Given the description of an element on the screen output the (x, y) to click on. 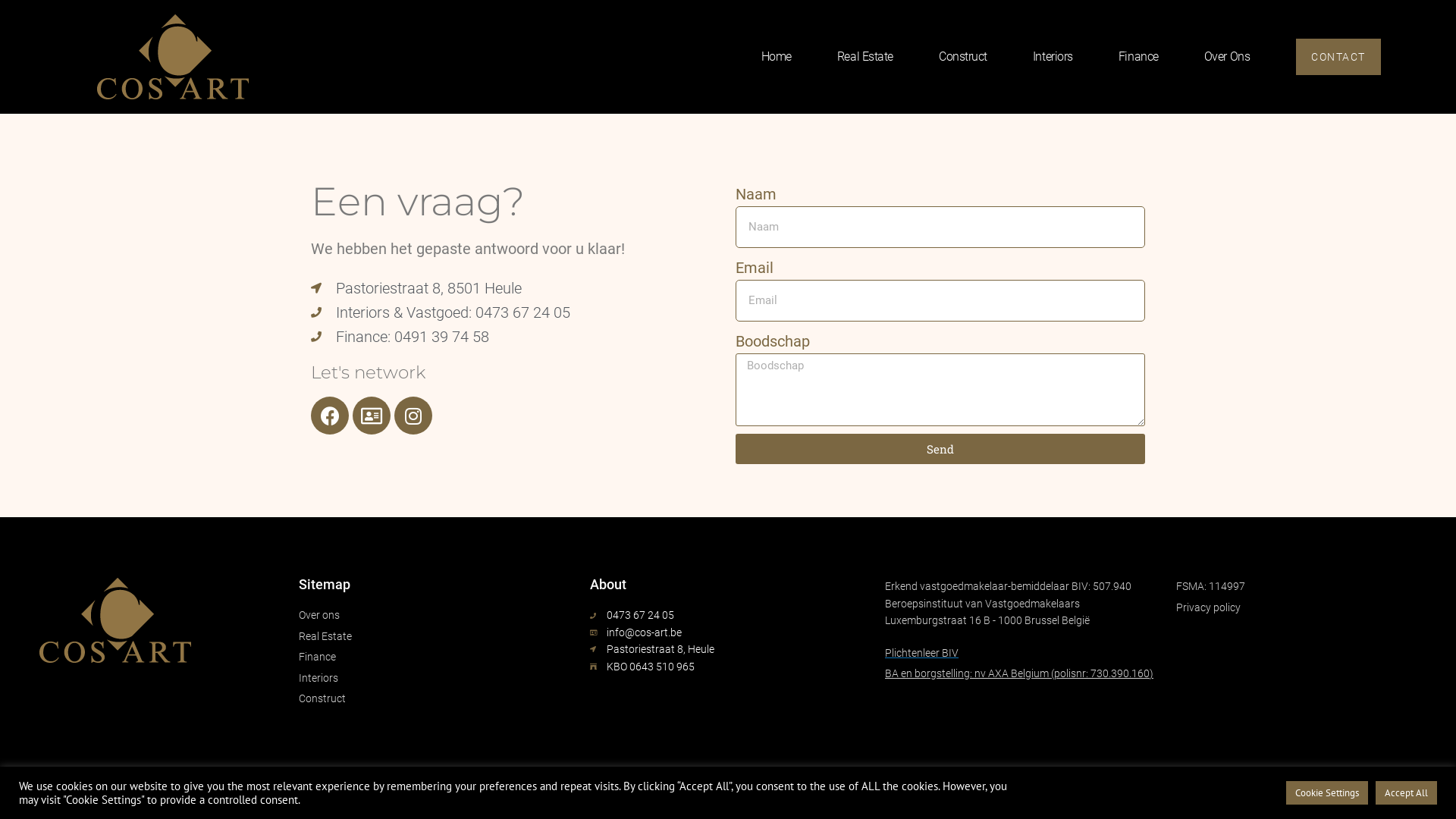
Finance Element type: text (1136, 30)
Over Ons Element type: text (1225, 30)
Finance Element type: text (1138, 56)
Over Ons Element type: text (1226, 56)
Accept All Element type: text (1406, 792)
Home Element type: text (774, 30)
Privacy policy Element type: text (1310, 607)
Interiors Element type: text (1051, 30)
Real Estate Element type: text (863, 30)
Send Element type: text (940, 448)
CONTACT Element type: text (1338, 56)
Pastoriestraat 8, Heule Element type: text (727, 648)
Interiors Element type: text (1052, 56)
Construct Element type: text (961, 30)
Plichtenleer BIV Element type: text (1019, 652)
Home Element type: text (776, 56)
info@cos-art.be Element type: text (727, 632)
Cookie Settings Element type: text (1327, 792)
Construct Element type: text (962, 56)
BOOK NOW Element type: text (1333, 30)
Construct Element type: text (436, 698)
Real Estate Element type: text (864, 56)
